Given the description of an element on the screen output the (x, y) to click on. 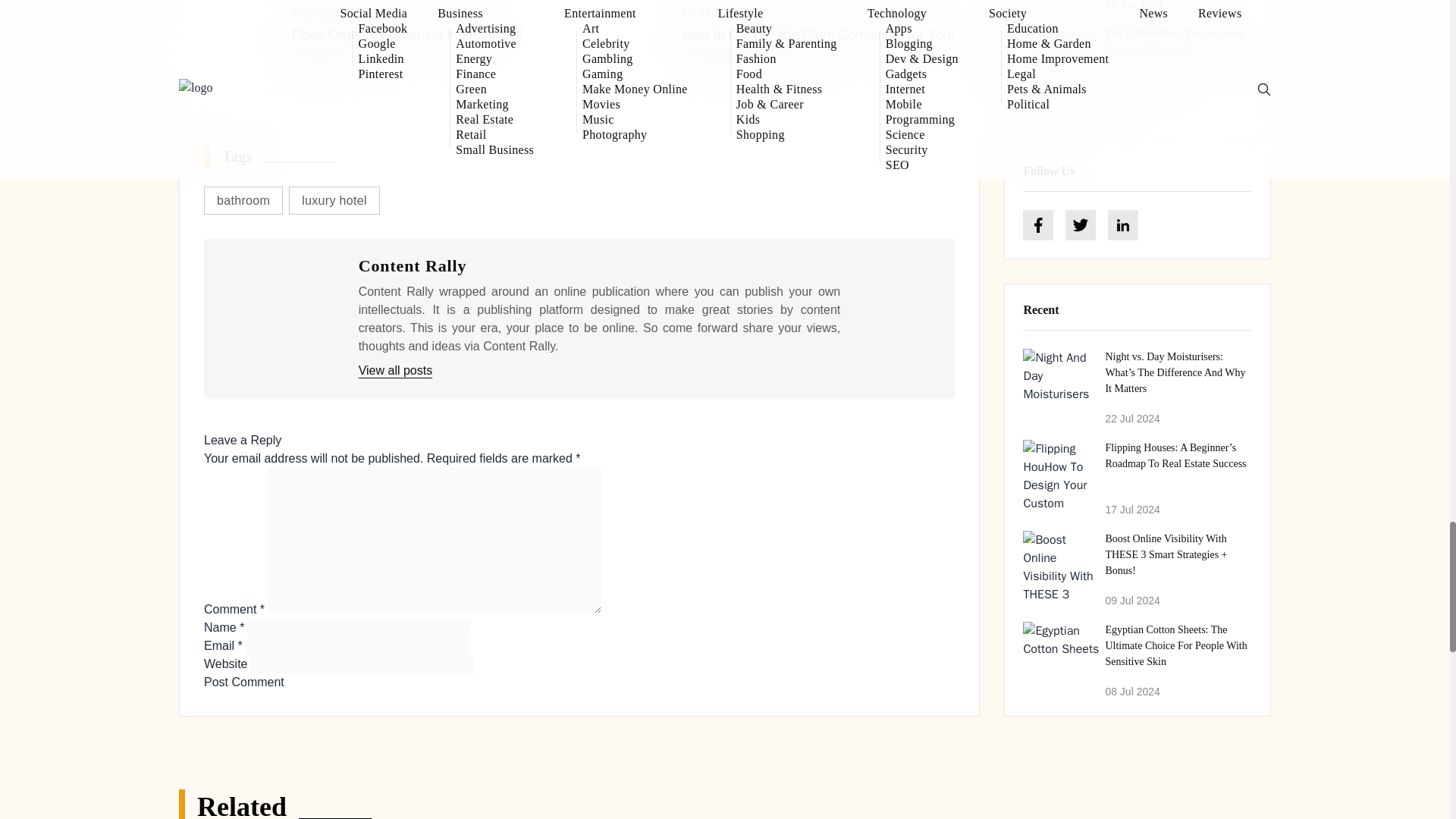
Post Comment (243, 682)
